Given the description of an element on the screen output the (x, y) to click on. 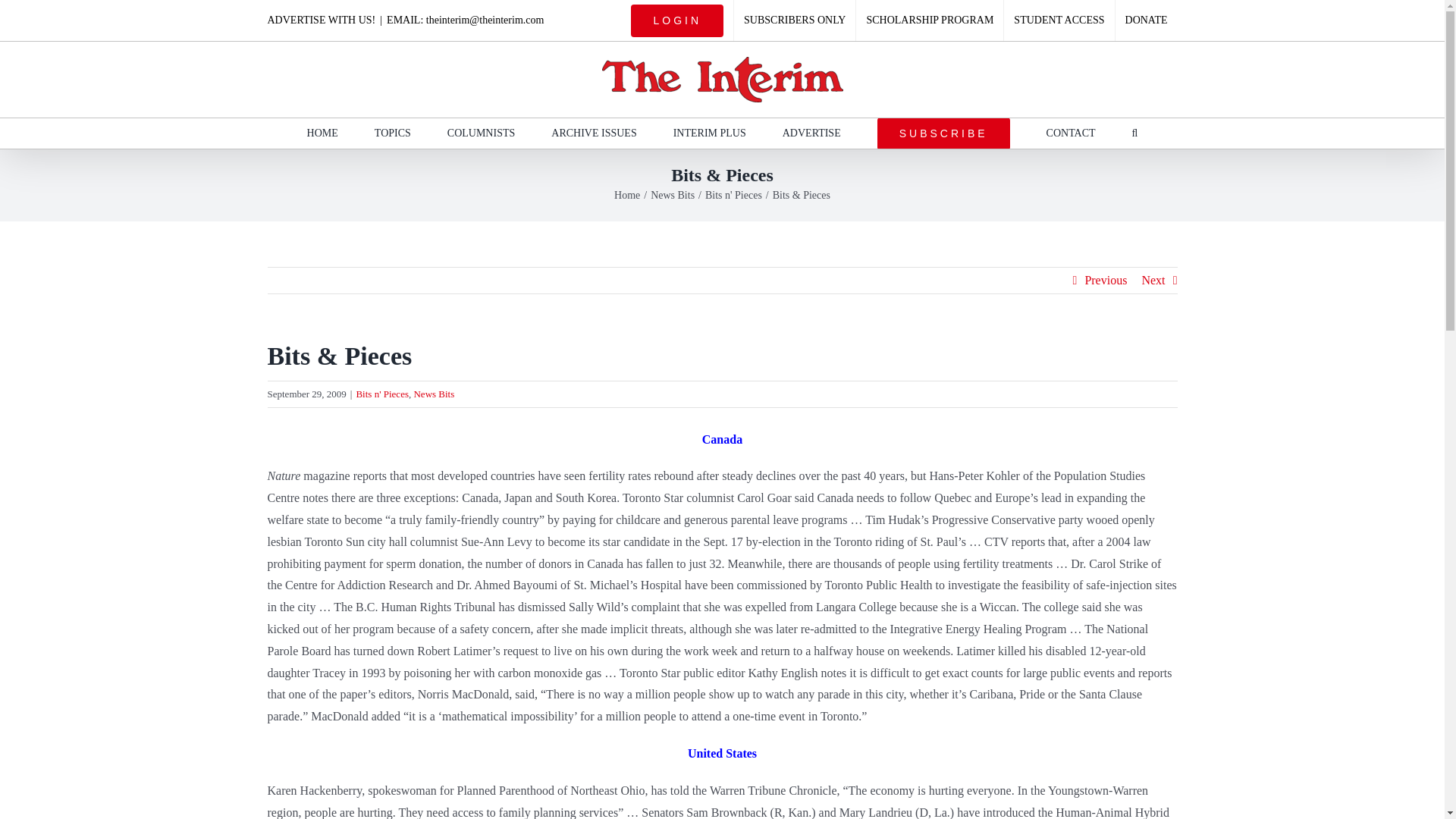
Next (1152, 280)
Home (627, 194)
TOPICS (392, 132)
HOME (322, 132)
Bits n' Pieces (732, 194)
News Bits (672, 194)
Search (1135, 132)
LOGIN (677, 20)
Previous (1105, 280)
CONTACT (1071, 132)
SUBSCRIBE (943, 132)
ADVERTISE (812, 132)
DONATE (1146, 20)
INTERIM PLUS (708, 132)
COLUMNISTS (480, 132)
